Given the description of an element on the screen output the (x, y) to click on. 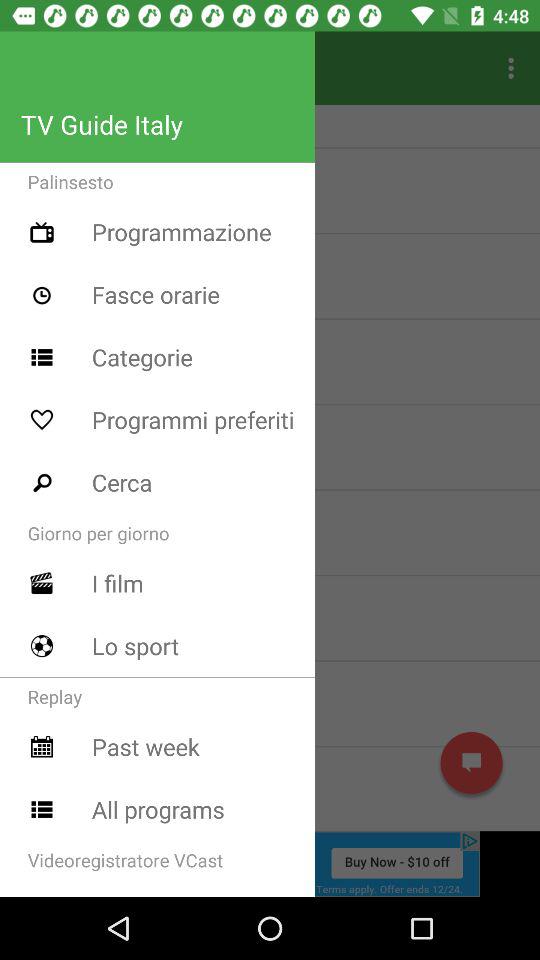
click on search icon (42, 482)
select message symbol (472, 762)
select the icon to the left of i film (42, 583)
choose the icon left side of all programs (42, 810)
